Given the description of an element on the screen output the (x, y) to click on. 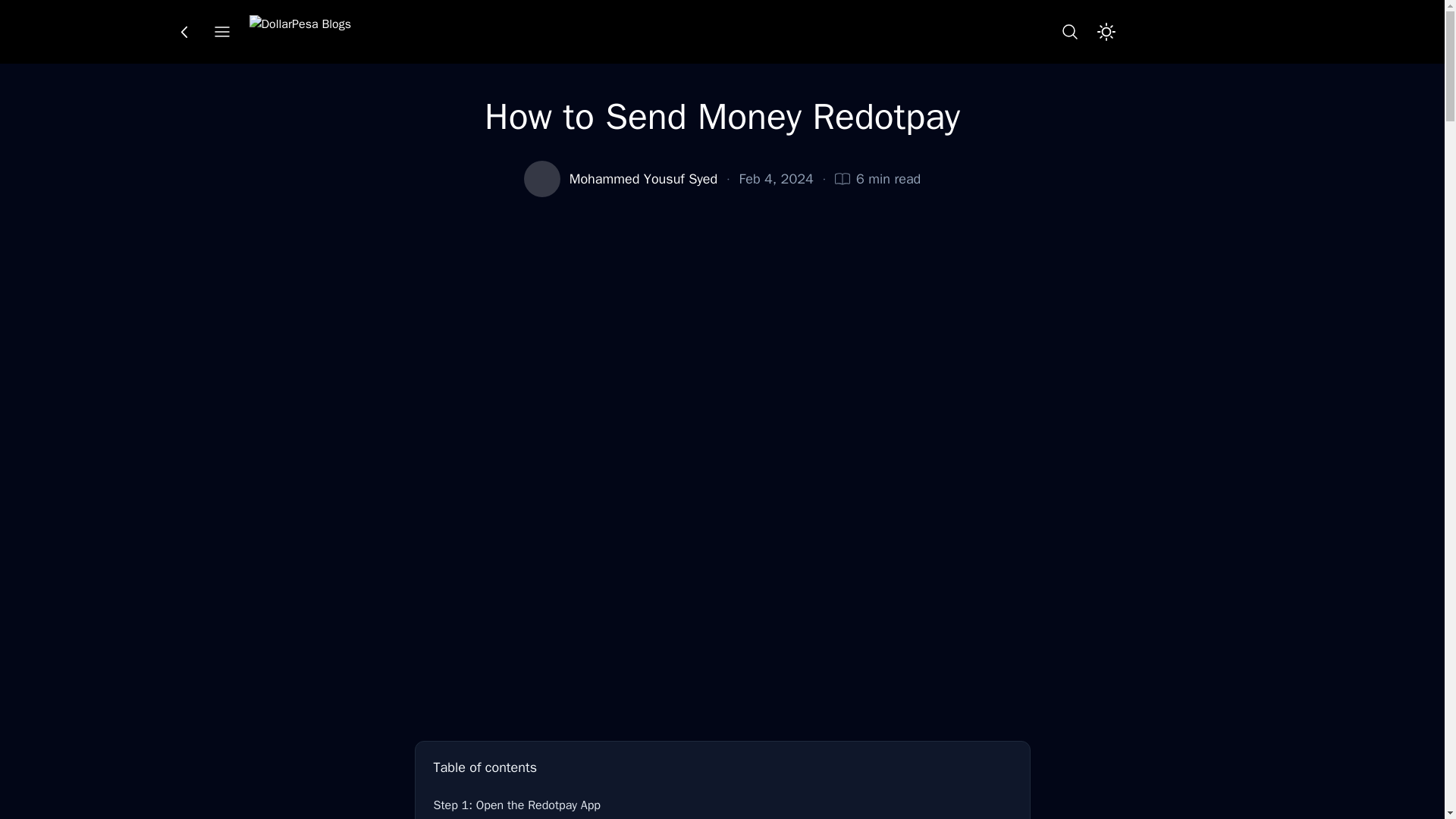
Step 1: Open the Redotpay App (722, 804)
Mohammed Yousuf Syed (643, 178)
Feb 4, 2024 (776, 178)
